Given the description of an element on the screen output the (x, y) to click on. 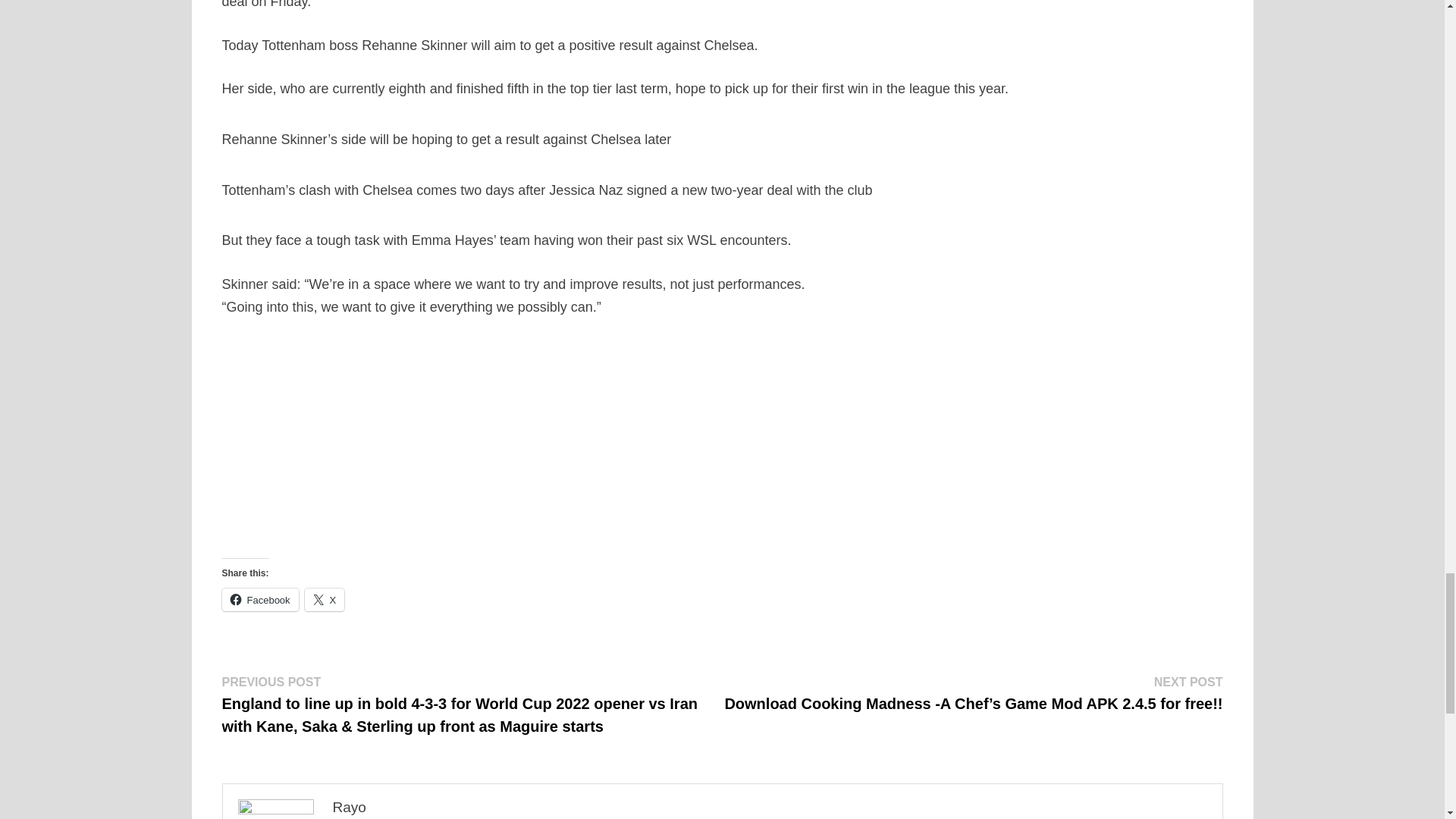
Click to share on Facebook (259, 599)
Facebook (259, 599)
Click to share on X (324, 599)
